Given the description of an element on the screen output the (x, y) to click on. 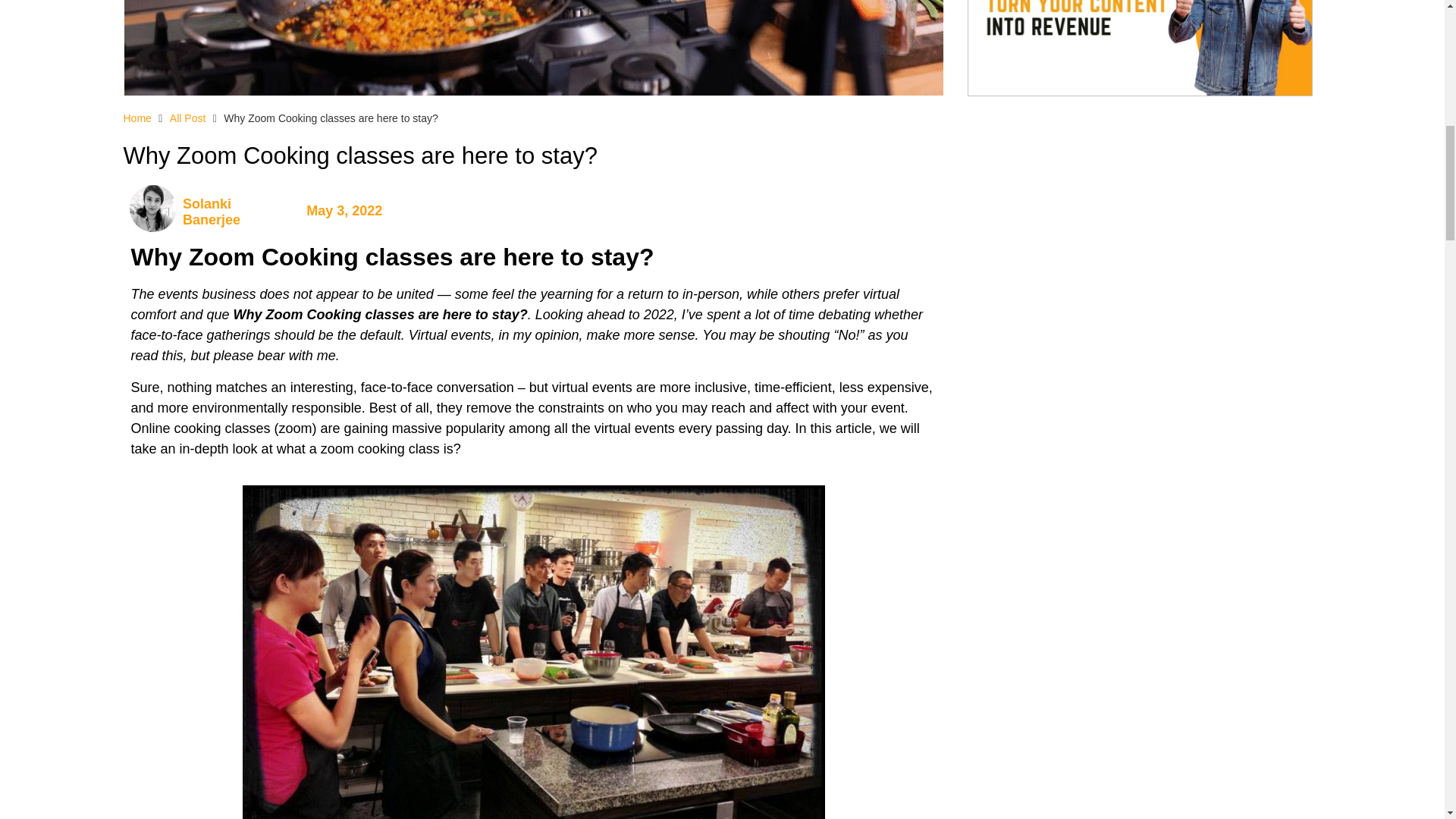
All Post (187, 118)
Home (136, 118)
Solanki Banerjee (237, 212)
May 3, 2022 (343, 210)
Home (136, 118)
All Post (187, 118)
